Given the description of an element on the screen output the (x, y) to click on. 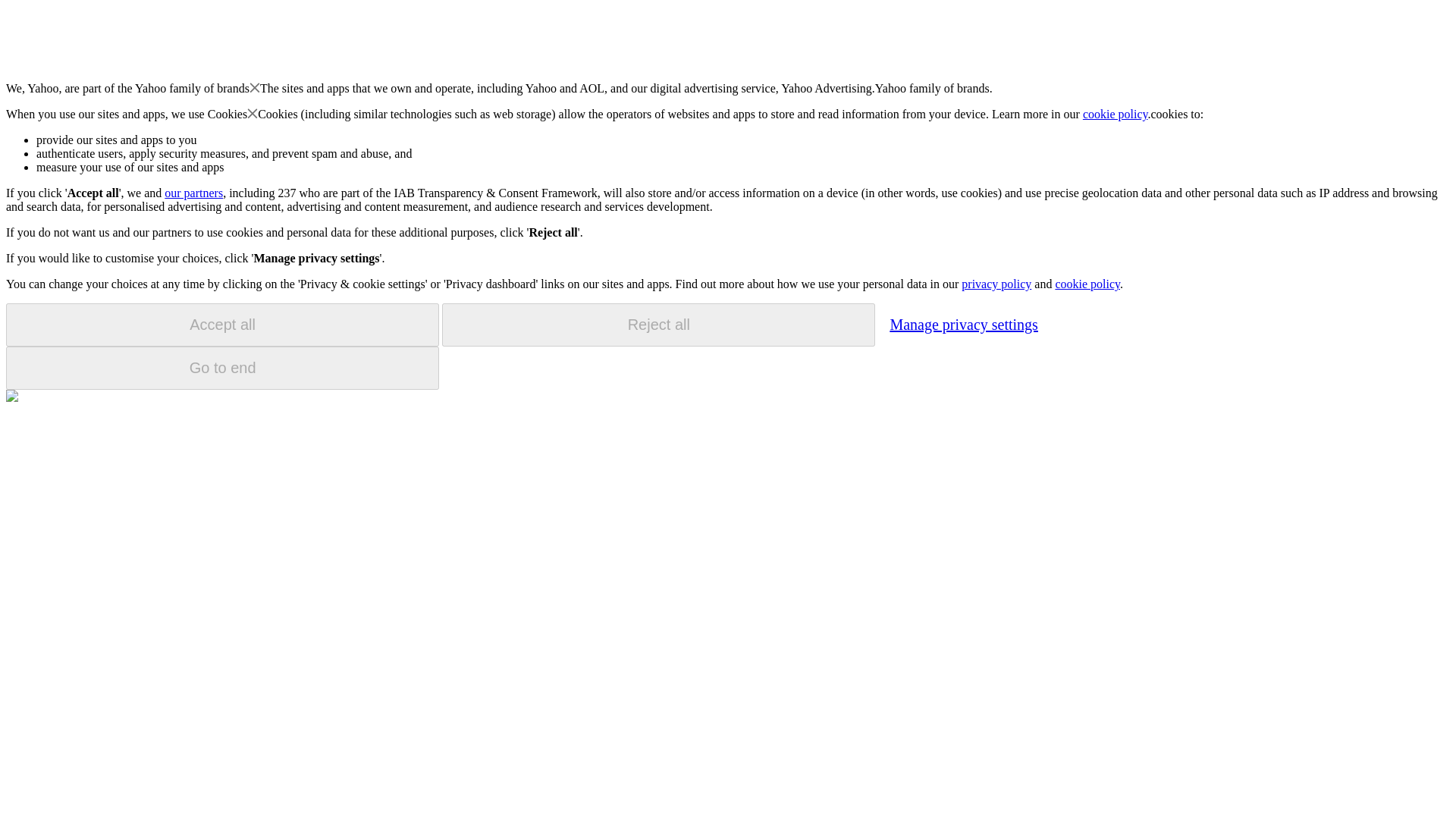
Reject all (658, 324)
Go to end (222, 367)
cookie policy (1115, 113)
Accept all (222, 324)
cookie policy (1086, 283)
our partners (193, 192)
Manage privacy settings (963, 323)
privacy policy (995, 283)
